Given the description of an element on the screen output the (x, y) to click on. 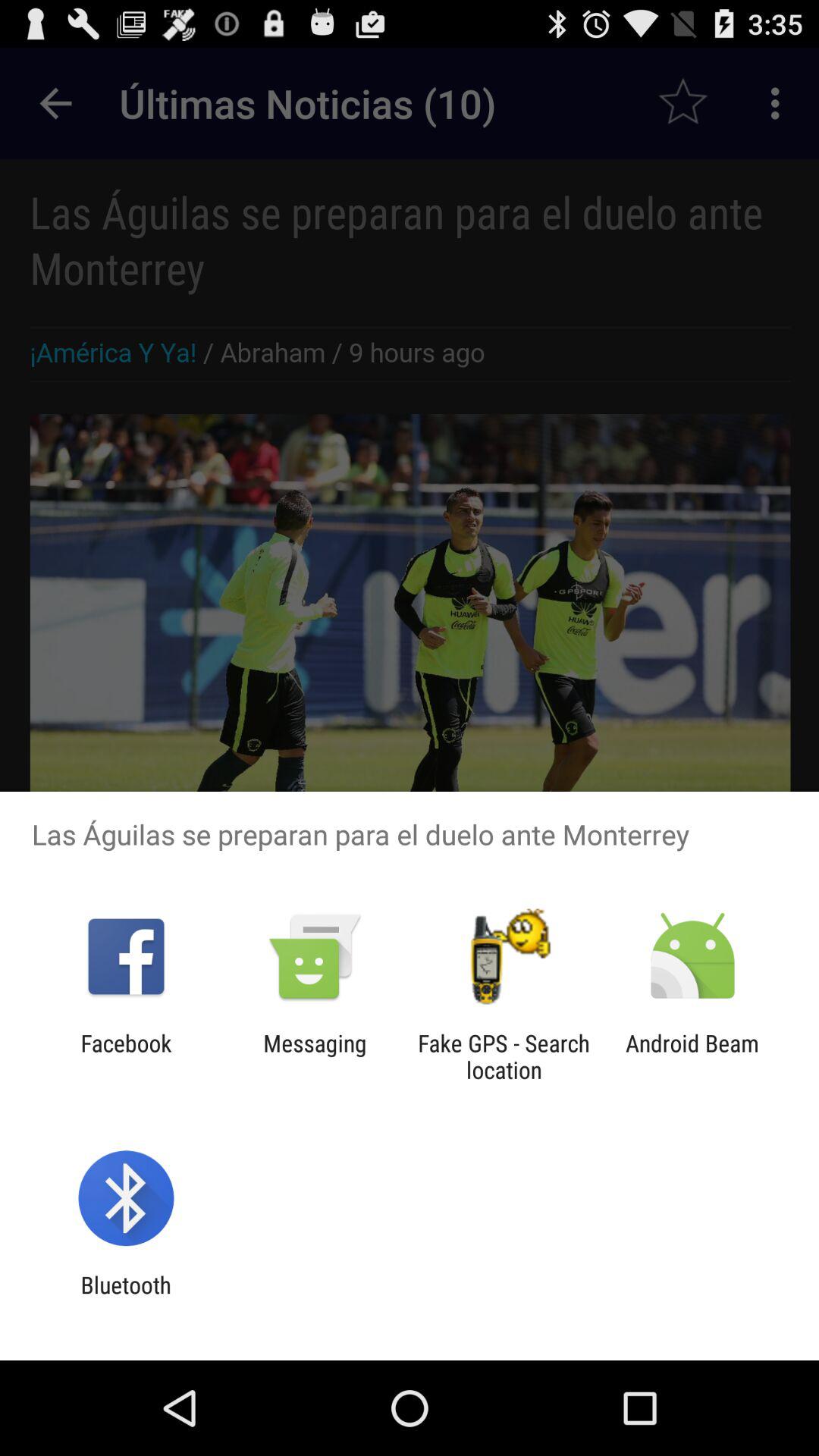
open the item to the right of the messaging item (503, 1056)
